Given the description of an element on the screen output the (x, y) to click on. 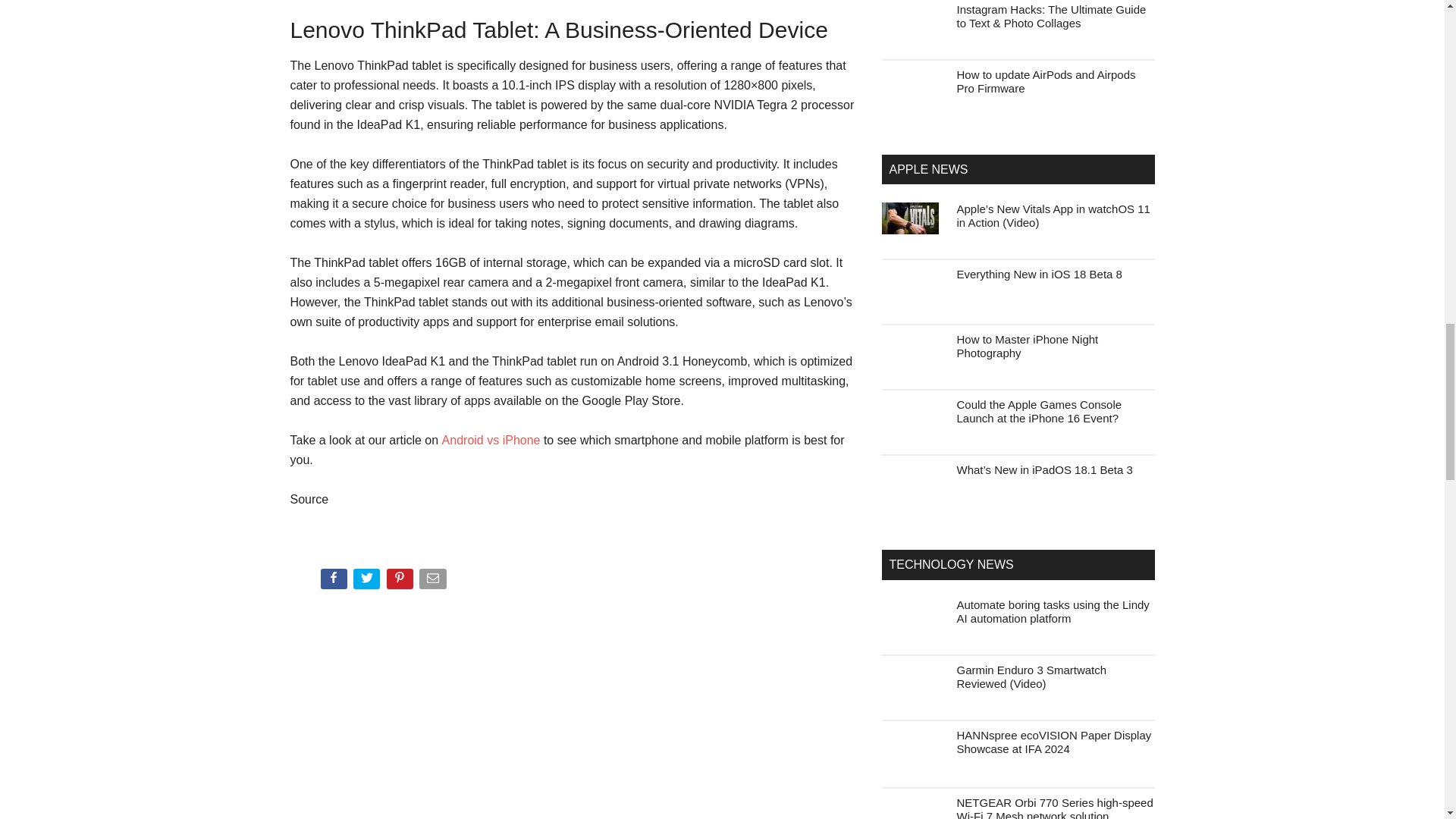
Email (433, 581)
Pin (401, 581)
Tweet (367, 581)
Android vs iPhone (491, 440)
Android vs iPhone (491, 440)
Share on Facebook (334, 581)
